Given the description of an element on the screen output the (x, y) to click on. 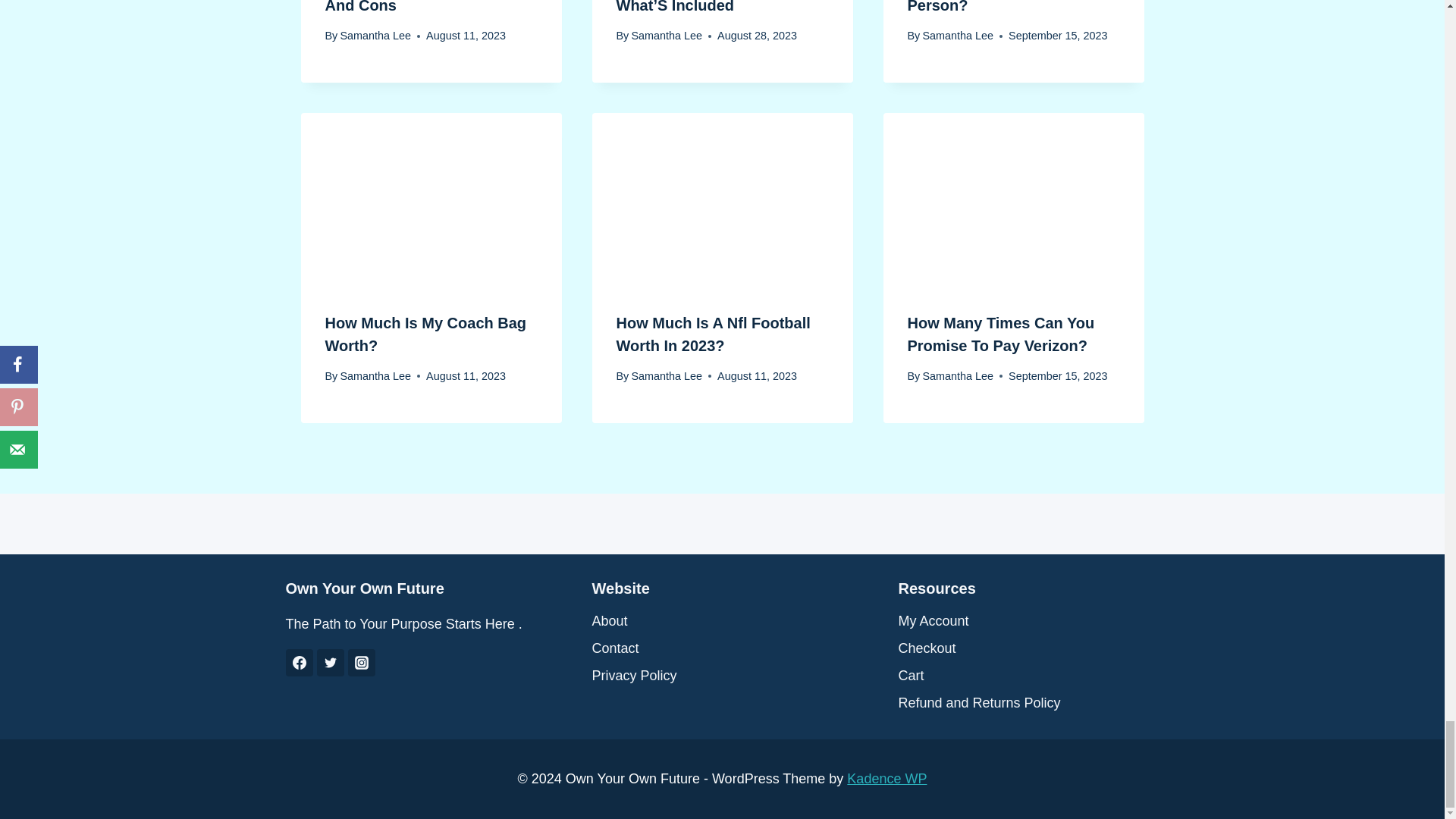
Samantha Lee (956, 35)
Where Can I Pay My Discover Card Bill In Person? (981, 6)
Samantha Lee (665, 35)
Samantha Lee (374, 35)
